Given the description of an element on the screen output the (x, y) to click on. 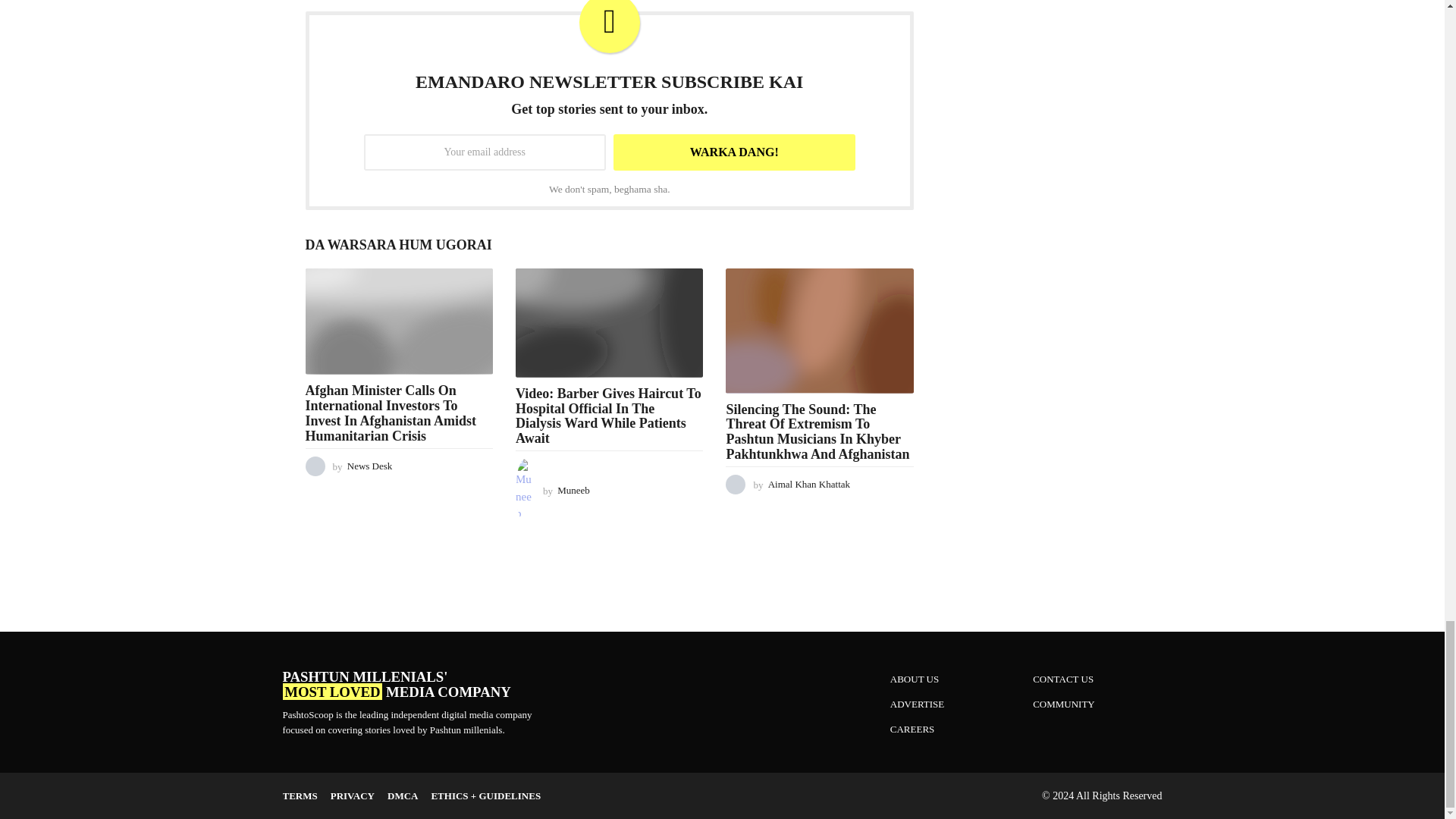
Warka Dang! (734, 152)
